Given the description of an element on the screen output the (x, y) to click on. 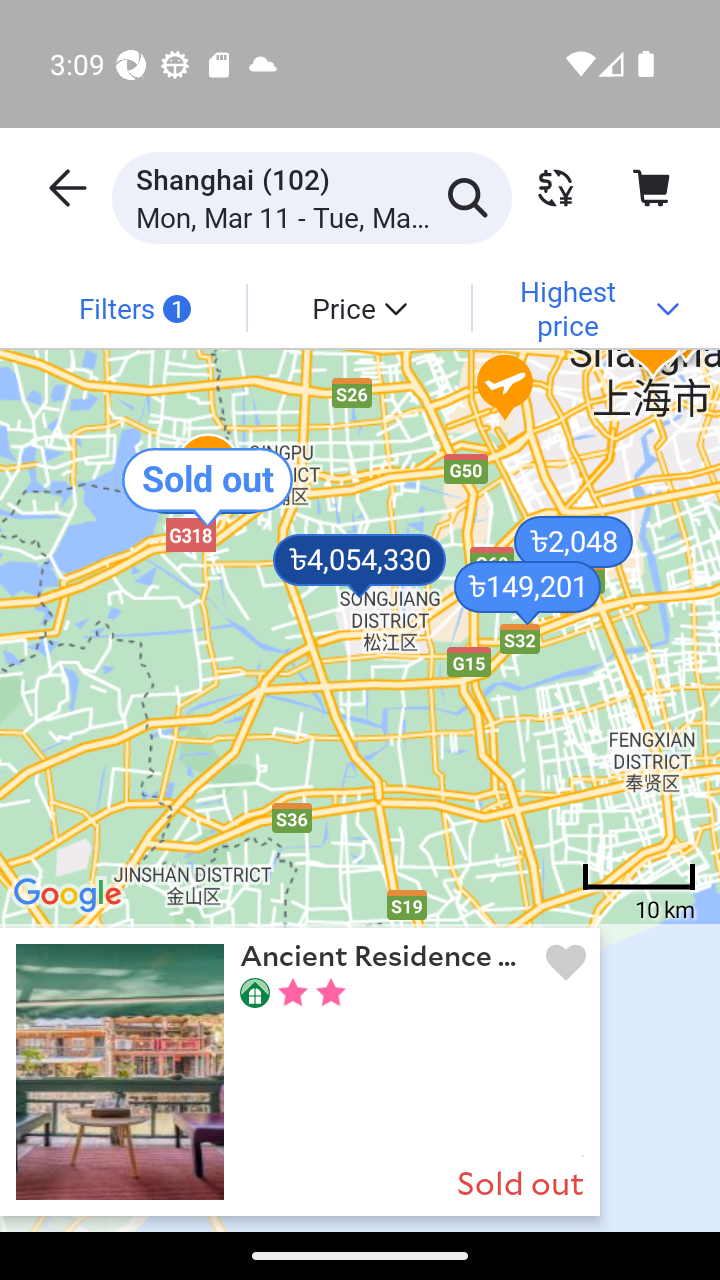
Filters 1 (134, 307)
Price (358, 307)
Highest price (584, 307)
